Given the description of an element on the screen output the (x, y) to click on. 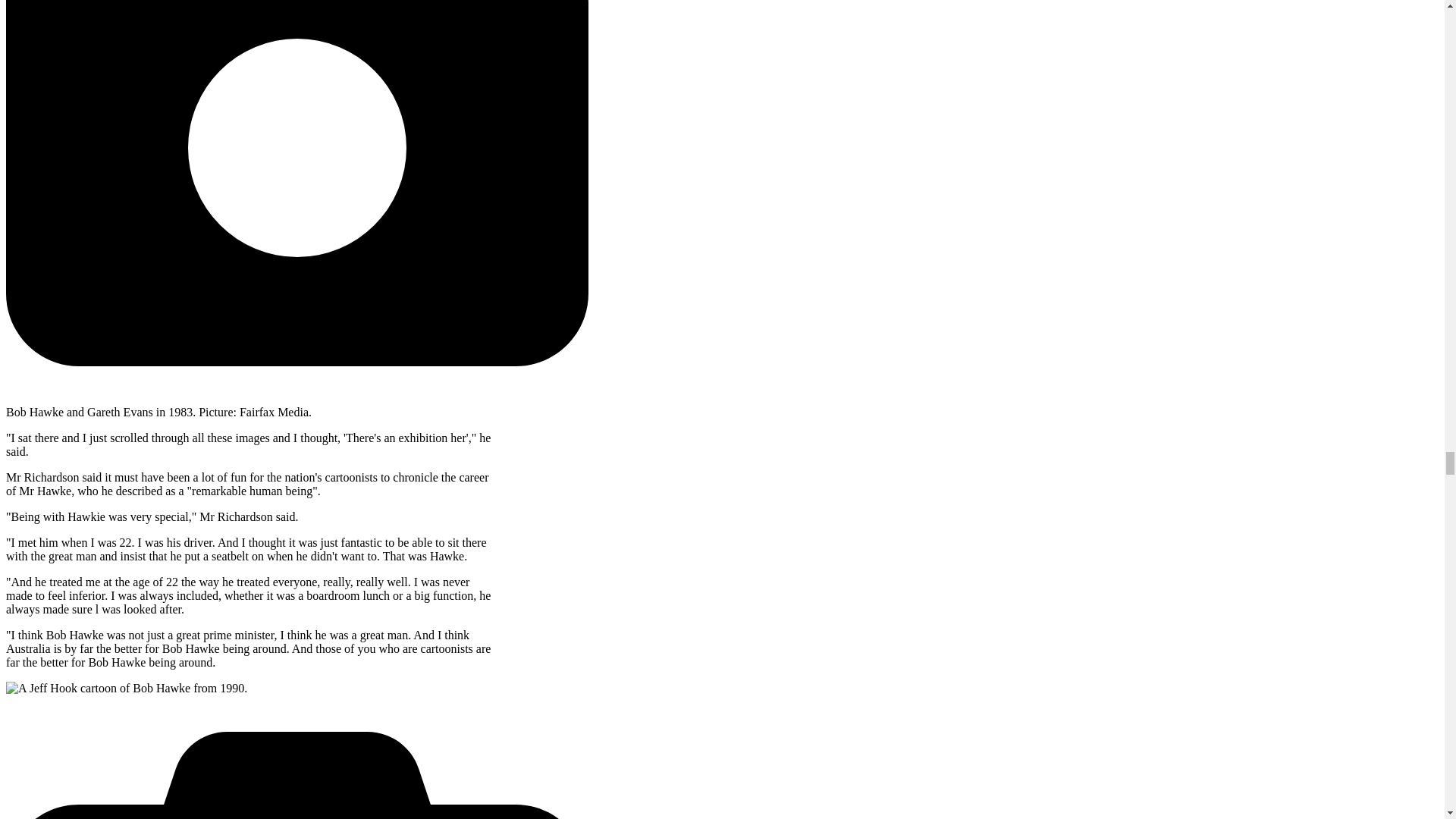
A Jeff Hook cartoon of Bob Hawke from 1990. (126, 688)
